Given the description of an element on the screen output the (x, y) to click on. 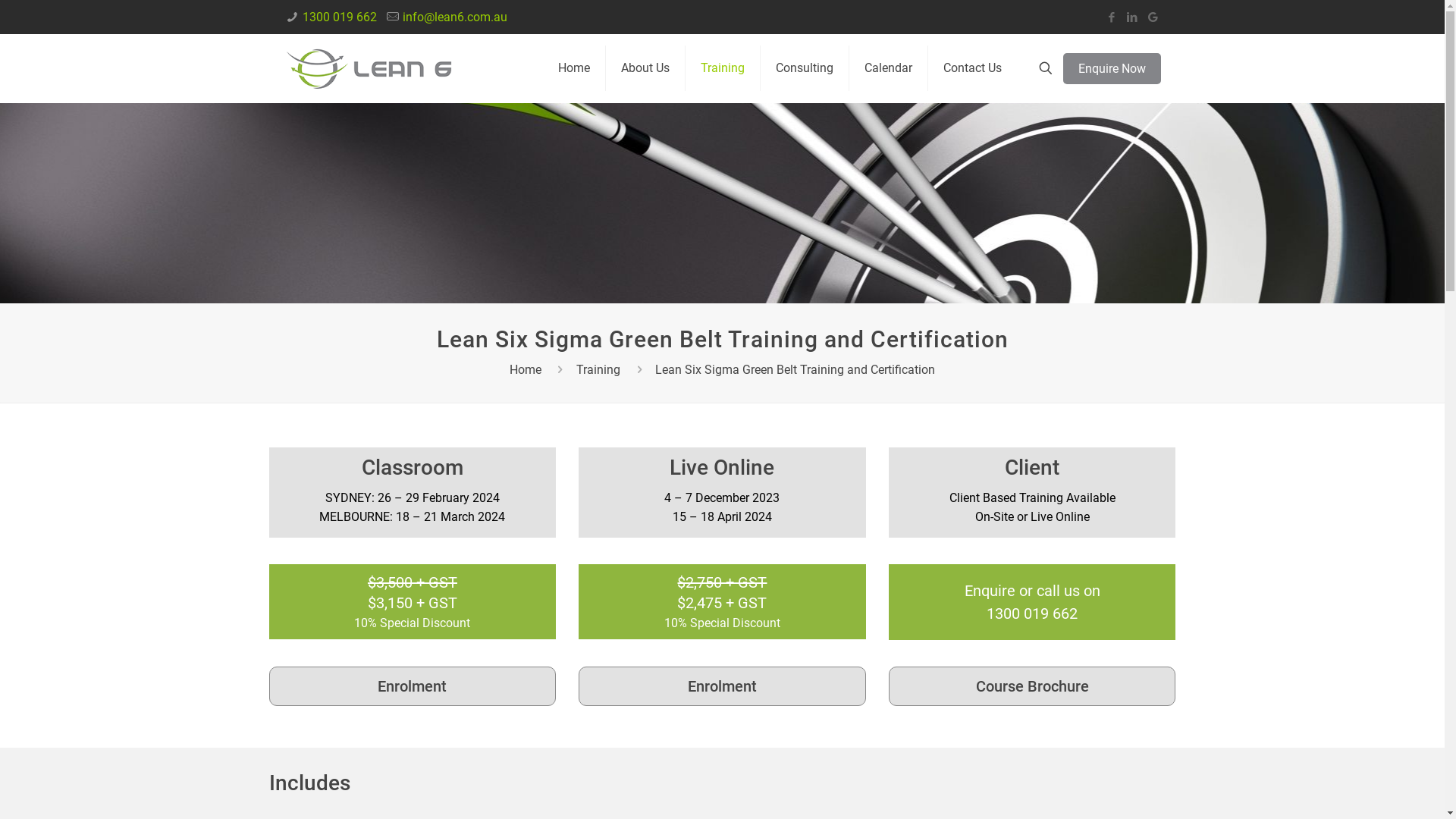
Enquire or call us on
1300 019 662 Element type: text (1032, 602)
Enquire Now Element type: text (1112, 68)
1300 019 662 Element type: text (339, 16)
info@lean6.com.au Element type: text (454, 16)
Enrolment Element type: text (722, 686)
Consulting Element type: text (803, 68)
Contact Us Element type: text (972, 68)
Training Element type: text (598, 369)
Calendar Element type: text (888, 68)
Training Element type: text (722, 68)
LEAN 6 Element type: hover (368, 68)
Home Element type: text (525, 369)
LinkedIn Element type: hover (1131, 17)
Course Brochure Element type: text (1032, 686)
About Us Element type: text (644, 68)
Facebook Element type: hover (1112, 17)
Home Element type: text (573, 68)
Enrolment Element type: text (412, 686)
